Given the description of an element on the screen output the (x, y) to click on. 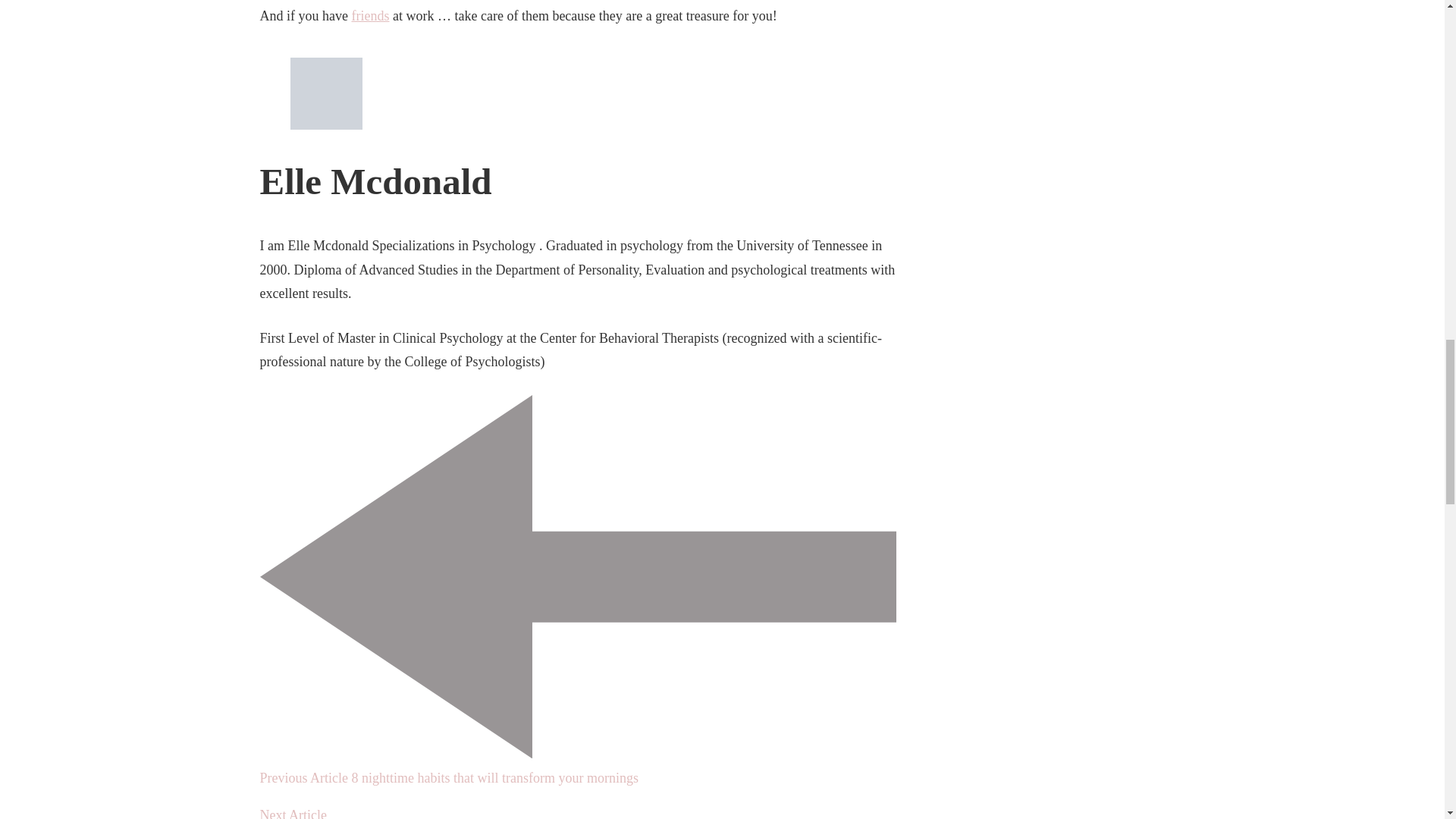
friends (369, 15)
